Given the description of an element on the screen output the (x, y) to click on. 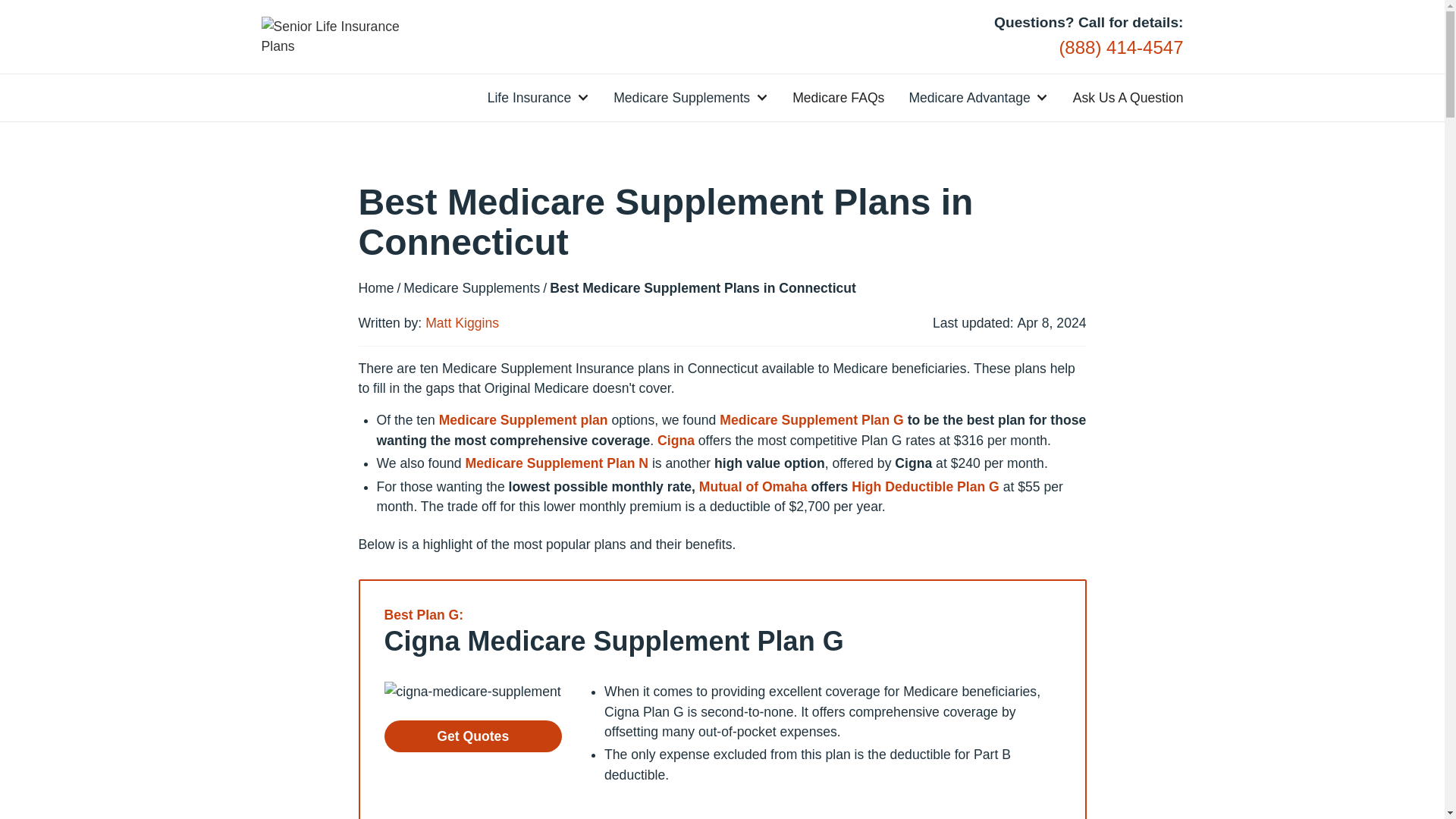
Home (375, 288)
Medicare Supplements (680, 97)
Medicare Advantage (968, 97)
Medicare Supplement Plan G (813, 419)
High Deductible Plan G (924, 486)
Ask Us A Question (1128, 97)
Mutual of Omaha (753, 486)
Cigna (676, 440)
Medicare FAQs (837, 97)
Best Medicare Supplement Plans in Connecticut (703, 288)
